Given the description of an element on the screen output the (x, y) to click on. 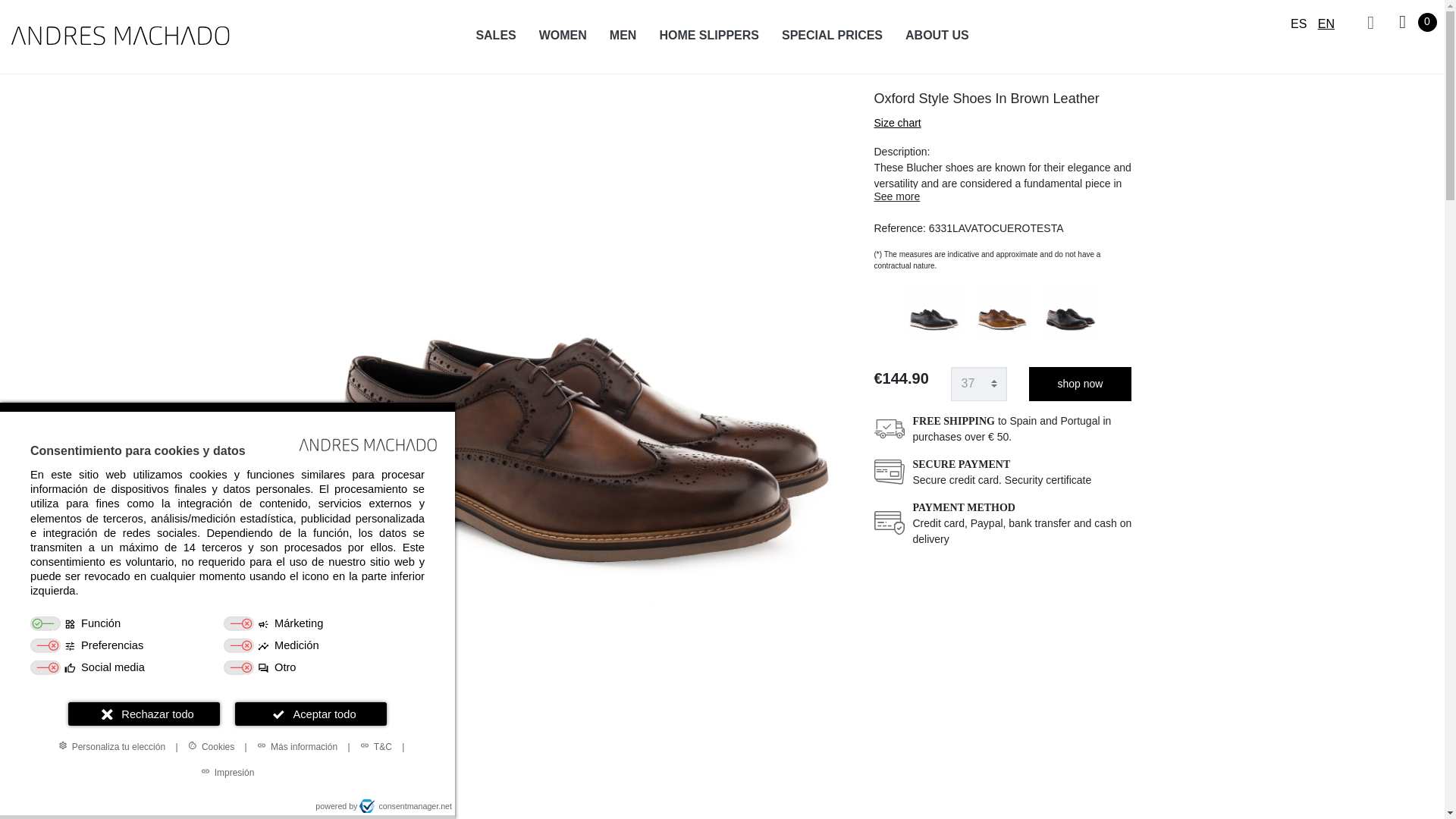
consentmanager.net (405, 806)
Oxford style Shoes in Brown Leather (581, 735)
ABOUT US (936, 35)
SALES (495, 35)
EN (1326, 23)
ES (1298, 23)
14 terceros (212, 547)
Rechazar todo (143, 713)
WOMEN (562, 35)
SPECIAL PRICES (831, 35)
MEN (622, 35)
HOME SLIPPERS (708, 35)
Cookies (210, 746)
Aceptar todo (310, 713)
